Given the description of an element on the screen output the (x, y) to click on. 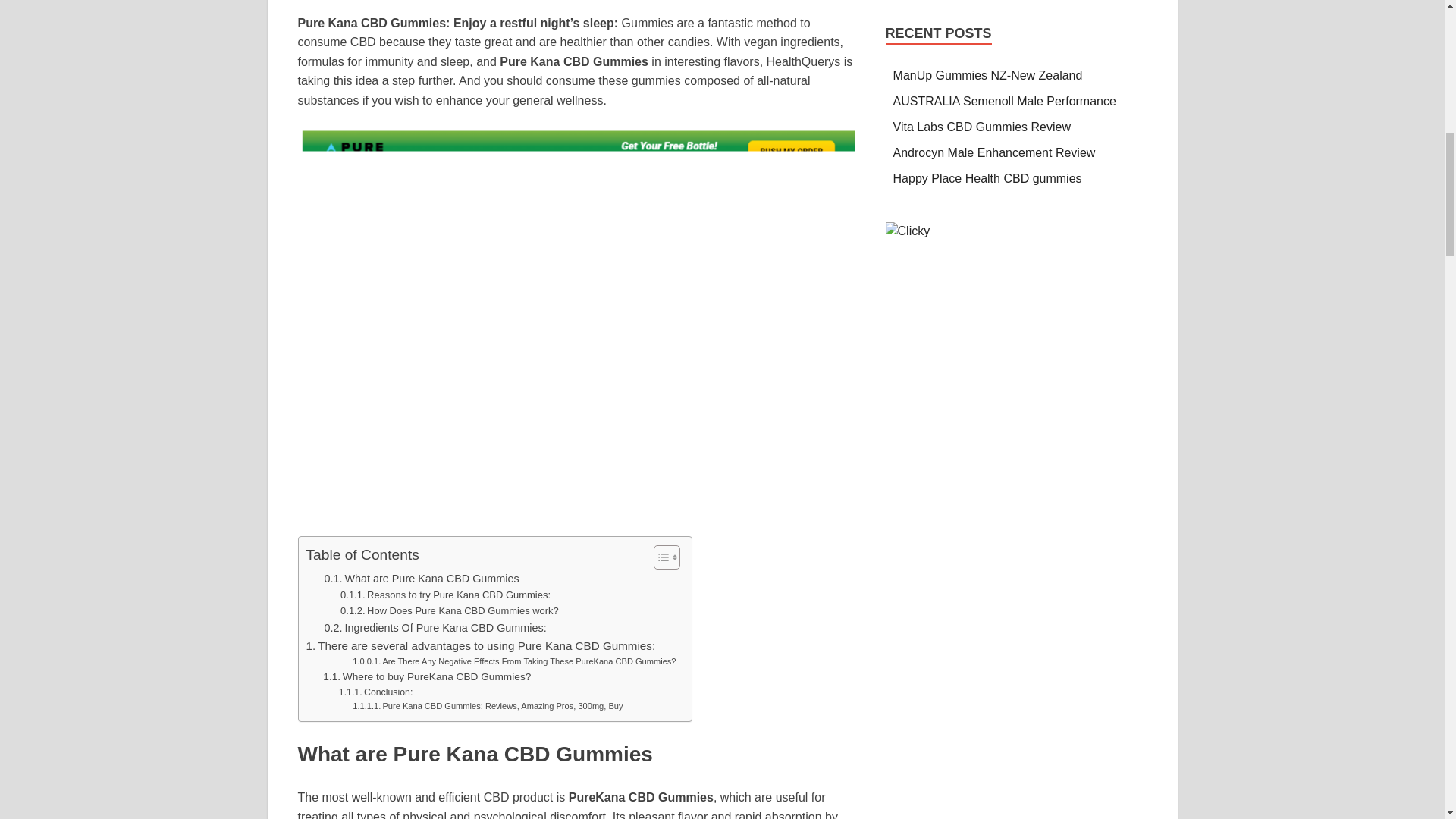
There are several advantages to using Pure Kana CBD Gummies: (480, 646)
Conclusion: (376, 693)
Ingredients Of Pure Kana CBD Gummies: (435, 628)
There are several advantages to using Pure Kana CBD Gummies: (480, 646)
Where to buy PureKana CBD Gummies? (427, 677)
Pure Kana CBD Gummies: Reviews, Amazing Pros, 300mg, Buy (487, 706)
How Does Pure Kana CBD Gummies work? (449, 611)
Ingredients Of Pure Kana CBD Gummies: (435, 628)
Reasons to try Pure Kana CBD Gummies: (445, 595)
What are Pure Kana CBD Gummies  (423, 579)
Conclusion: (376, 693)
Where to buy PureKana CBD Gummies? (427, 677)
